Given the description of an element on the screen output the (x, y) to click on. 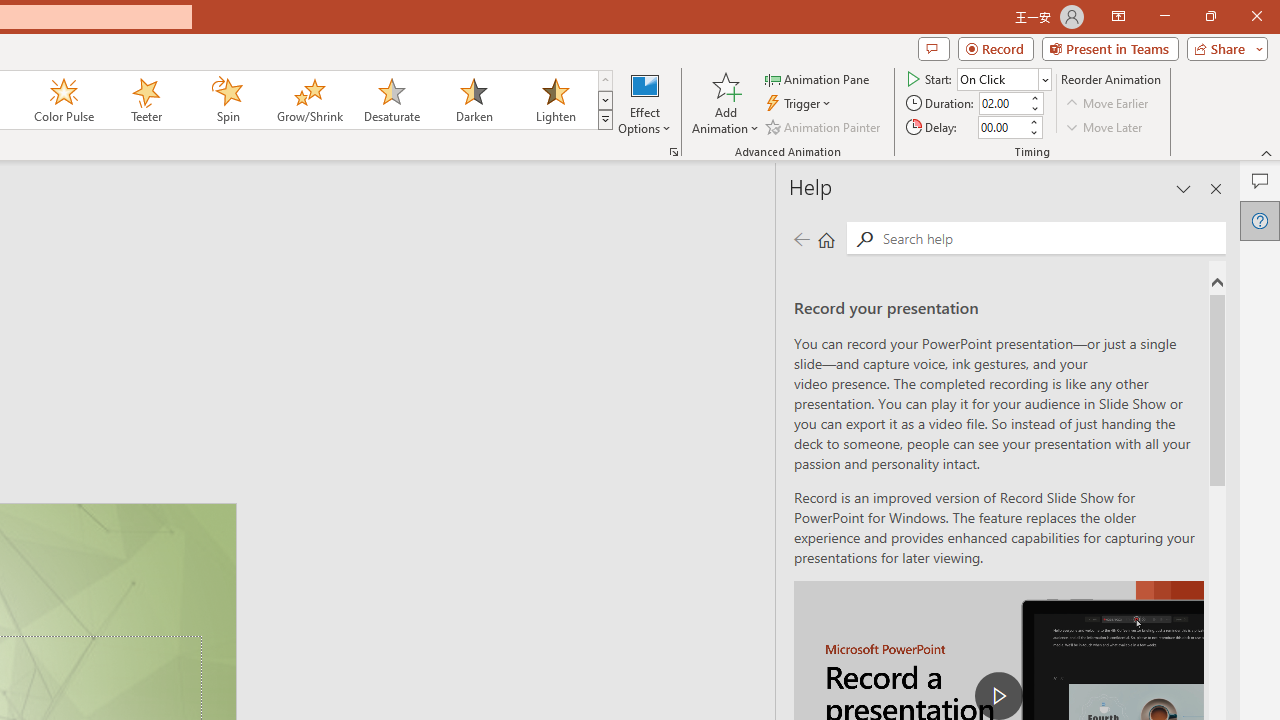
Move Later (1105, 126)
Effect Options (644, 102)
Trigger (799, 103)
More Options... (673, 151)
